Given the description of an element on the screen output the (x, y) to click on. 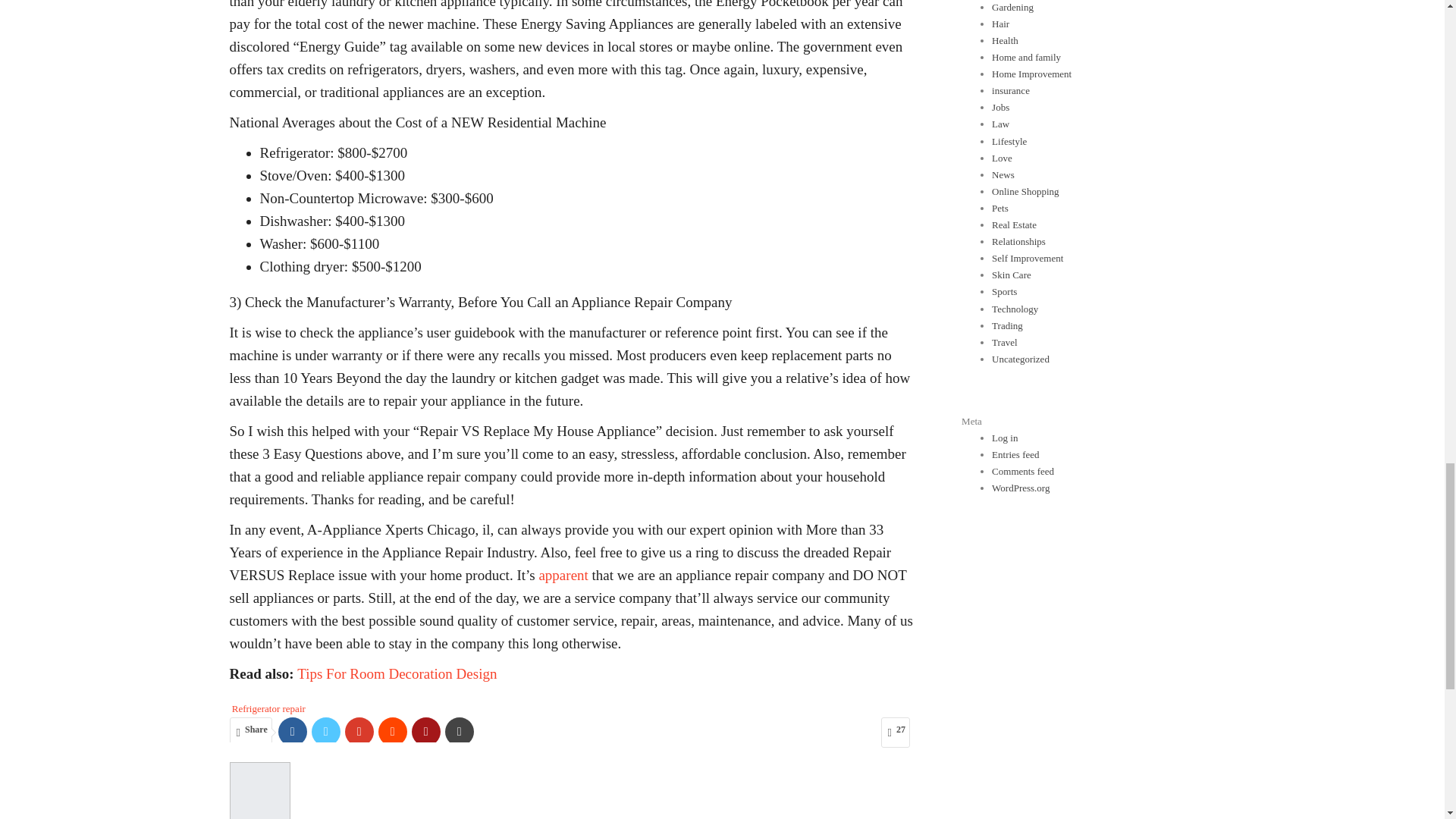
Browse Author Articles (258, 790)
